Given the description of an element on the screen output the (x, y) to click on. 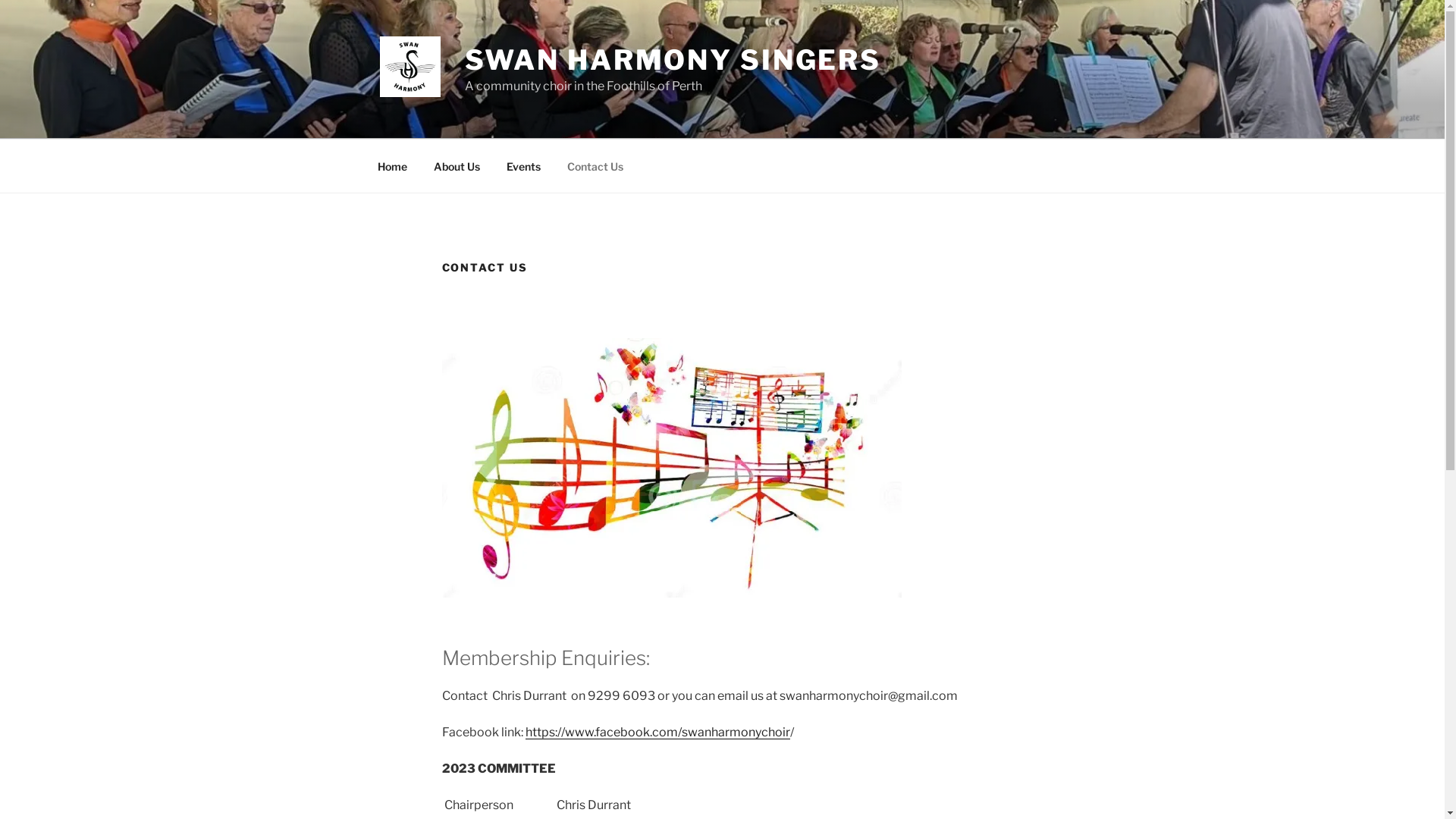
Contact Us Element type: text (594, 165)
Home Element type: text (392, 165)
Events Element type: text (522, 165)
https://www.facebook.com/swanharmonychoir Element type: text (656, 731)
SWAN HARMONY SINGERS Element type: text (672, 59)
About Us Element type: text (456, 165)
